Given the description of an element on the screen output the (x, y) to click on. 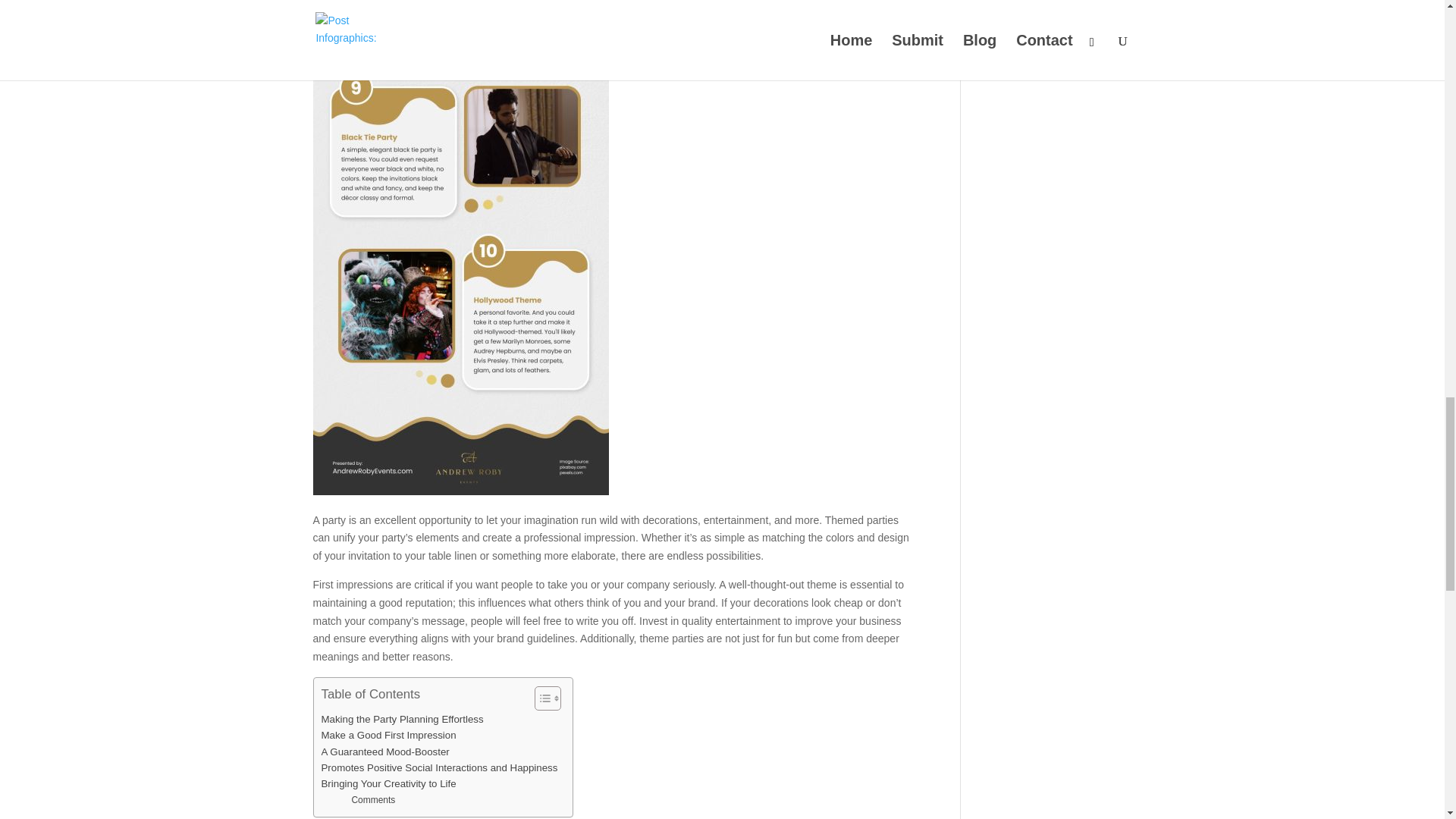
Make a Good First Impression (389, 734)
Promotes Positive Social Interactions and Happiness (439, 767)
Making the Party Planning Effortless (402, 719)
Promotes Positive Social Interactions and Happiness (439, 767)
Comments (372, 800)
Making the Party Planning Effortless (402, 719)
A Guaranteed Mood-Booster (385, 750)
Bringing Your Creativity to Life (389, 783)
Bringing Your Creativity to Life (389, 783)
Comments (372, 800)
Make a Good First Impression (389, 734)
A Guaranteed Mood-Booster (385, 750)
